Given the description of an element on the screen output the (x, y) to click on. 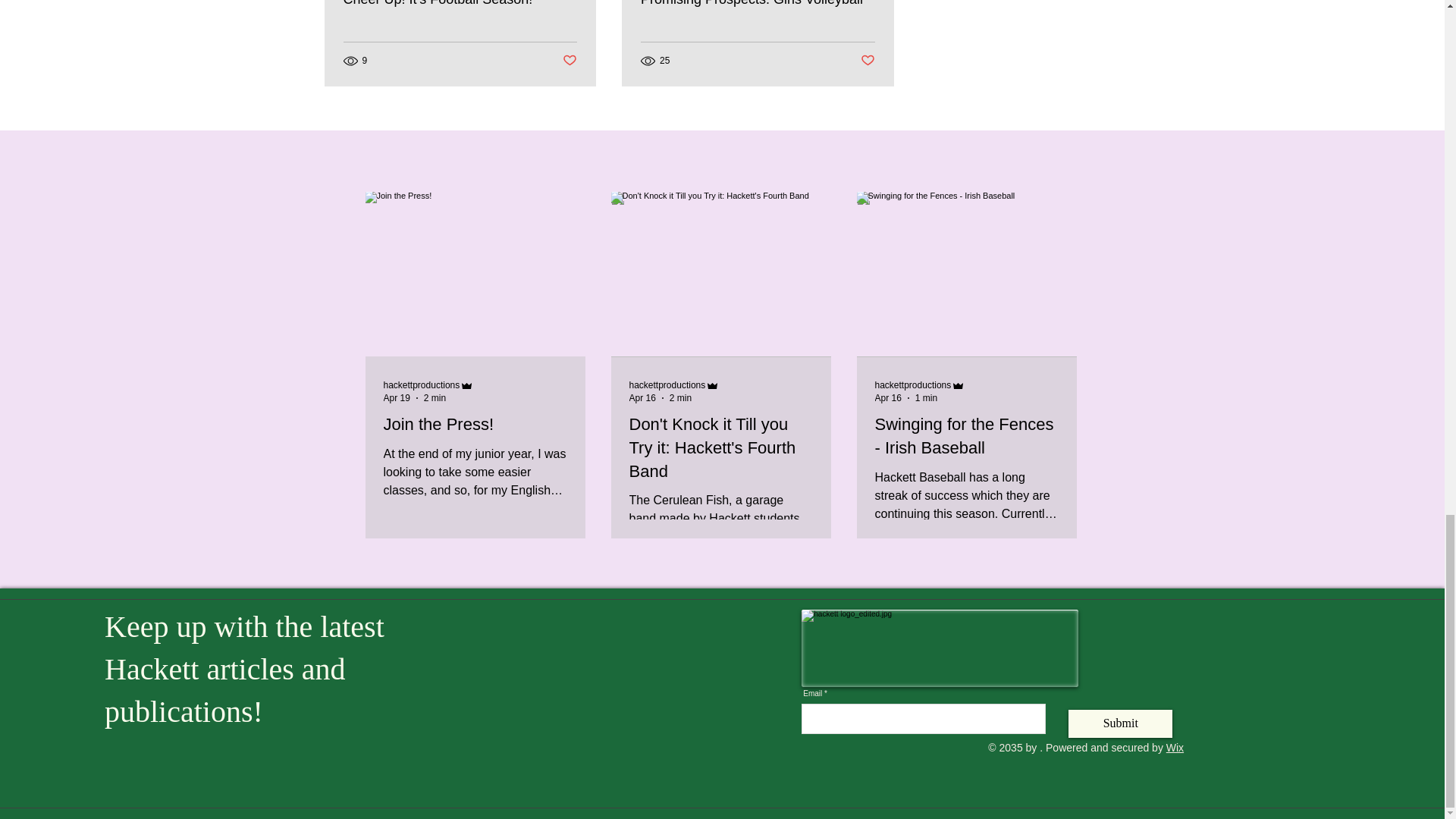
Post not marked as liked (867, 60)
Promising Prospects: Girls Volleyball (757, 3)
hackettproductions (429, 385)
Post not marked as liked (569, 60)
hackettproductions (667, 385)
Apr 19 (397, 398)
Apr 16 (888, 398)
hackettproductions (674, 385)
Join the Press! (475, 424)
Submit (1120, 723)
